Given the description of an element on the screen output the (x, y) to click on. 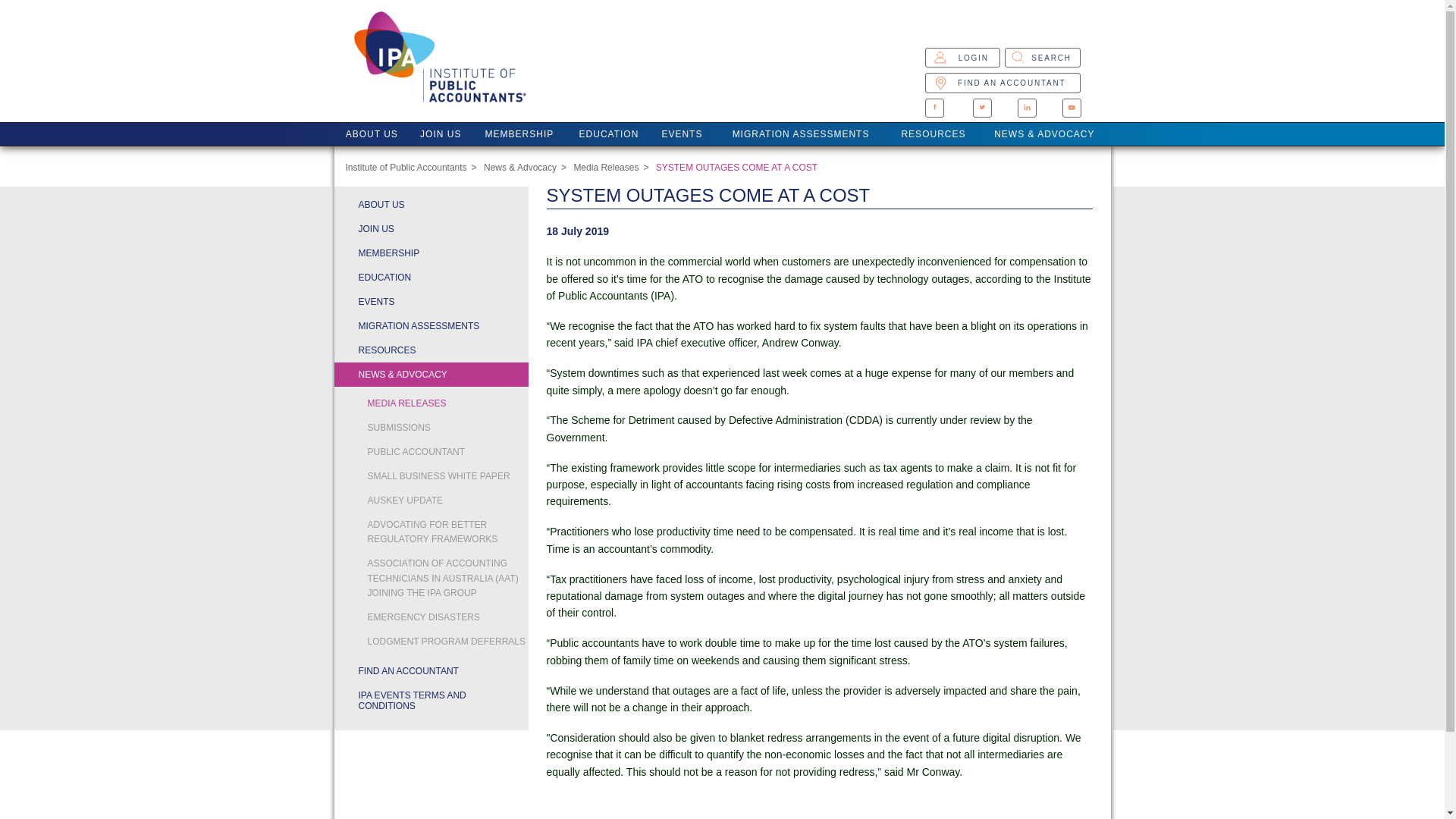
FACEBOOK ICON CREATED WITH SKETCH. (933, 107)
ICON : SEARCH CREATED WITH SKETCH. (1017, 56)
YOUTUBE CREATED WITH SKETCH. (1071, 107)
MEMBERSHIP (518, 133)
LINKDIN (1026, 107)
Media Releases (606, 167)
ABOUT US (371, 133)
ICON CREATED WITH SKETCH. (961, 57)
ICON CREATED WITH SKETCH. (981, 107)
